Given the description of an element on the screen output the (x, y) to click on. 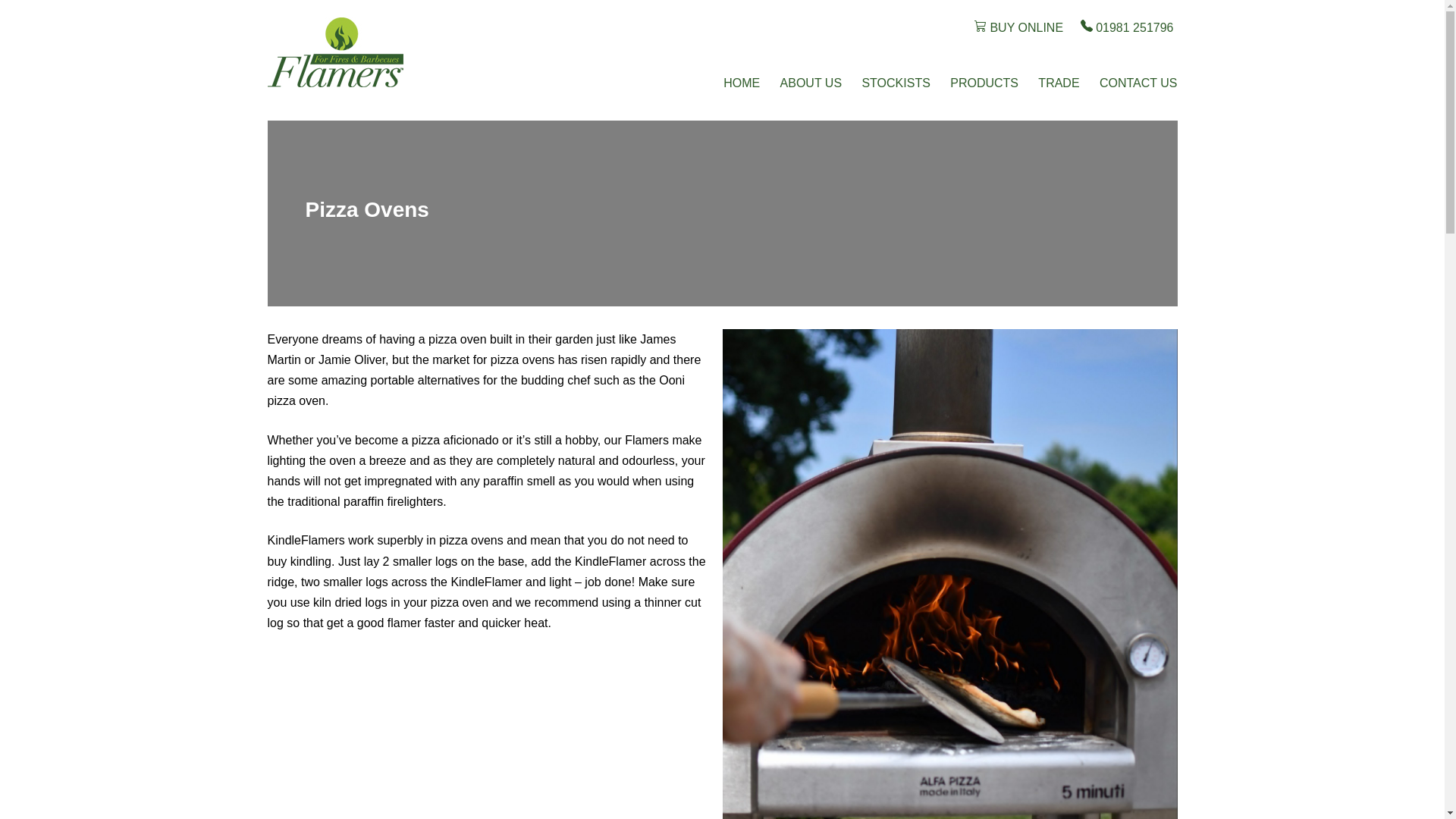
HOME (741, 83)
BUY ONLINE (1015, 26)
01981 251796 (1123, 26)
ABOUT US (810, 83)
STOCKISTS (895, 83)
CONTACT US (1138, 83)
TRADE (1058, 83)
Flamers Firelighters (334, 51)
PRODUCTS (983, 83)
